Given the description of an element on the screen output the (x, y) to click on. 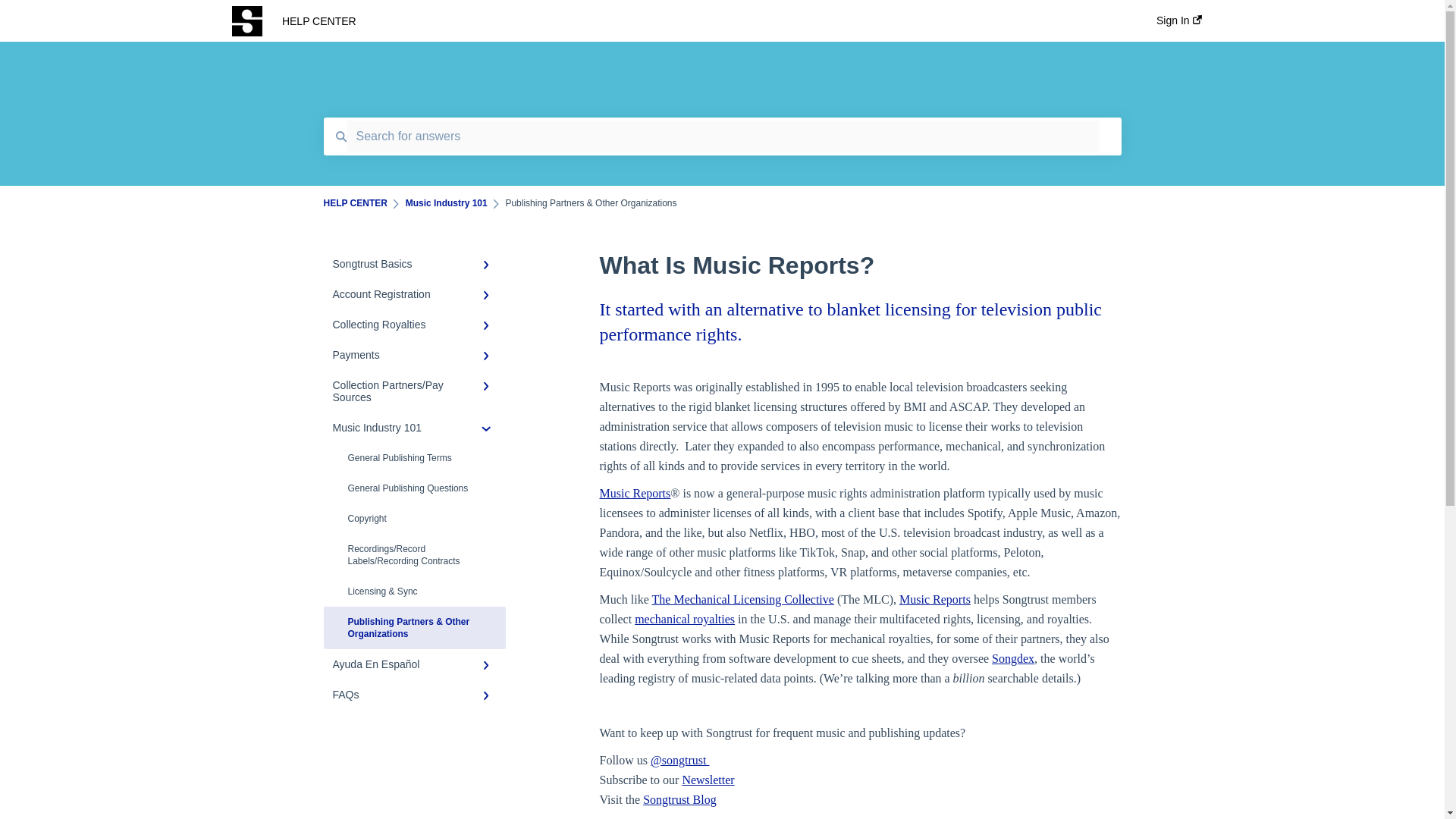
HELP CENTER (696, 21)
